Given the description of an element on the screen output the (x, y) to click on. 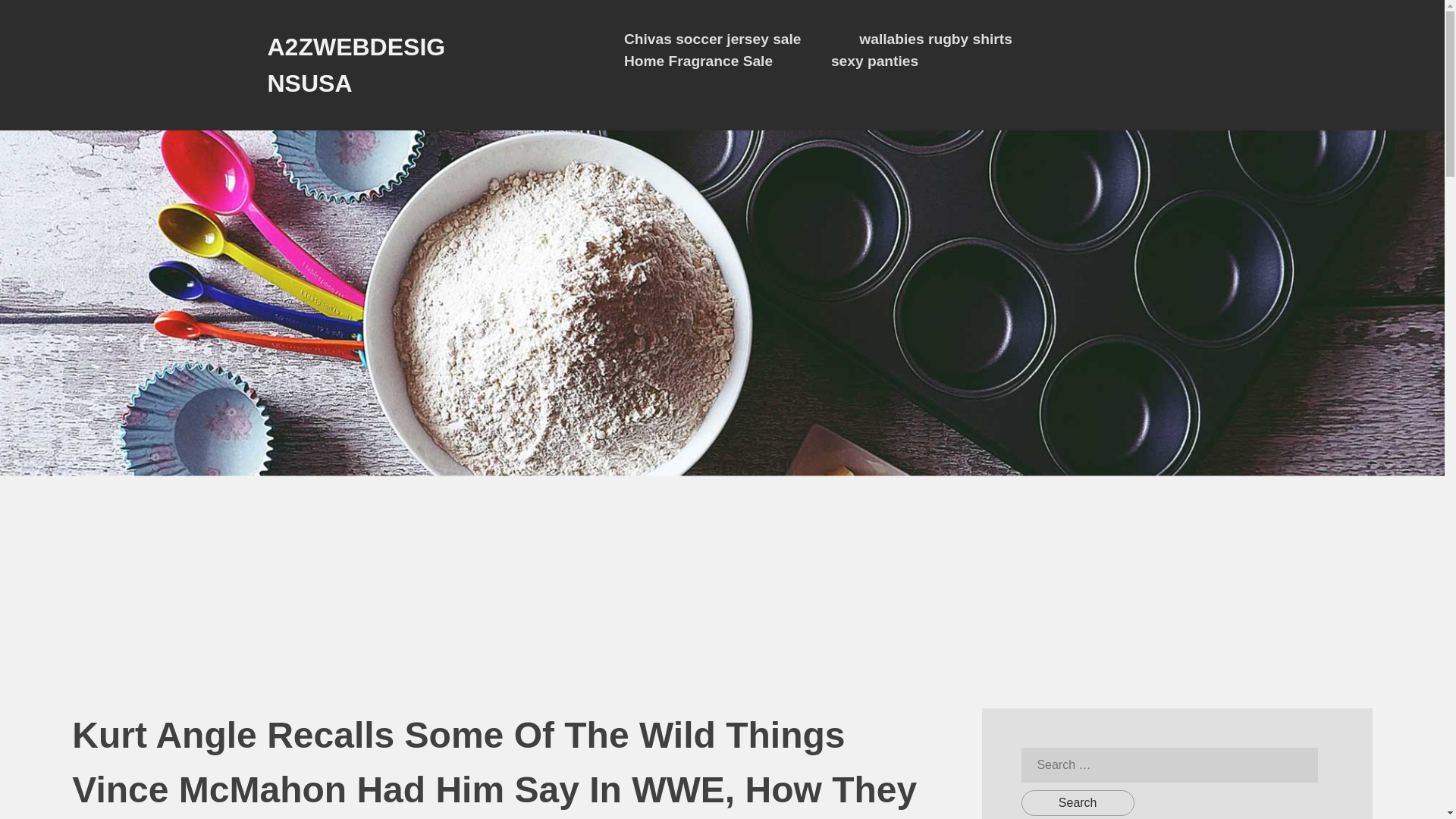
Search (1078, 802)
sexy panties (874, 61)
Search (1078, 802)
Chivas soccer jersey sale (713, 39)
Search (1078, 802)
wallabies rugby shirts (935, 39)
Home Fragrance Sale (698, 61)
